Given the description of an element on the screen output the (x, y) to click on. 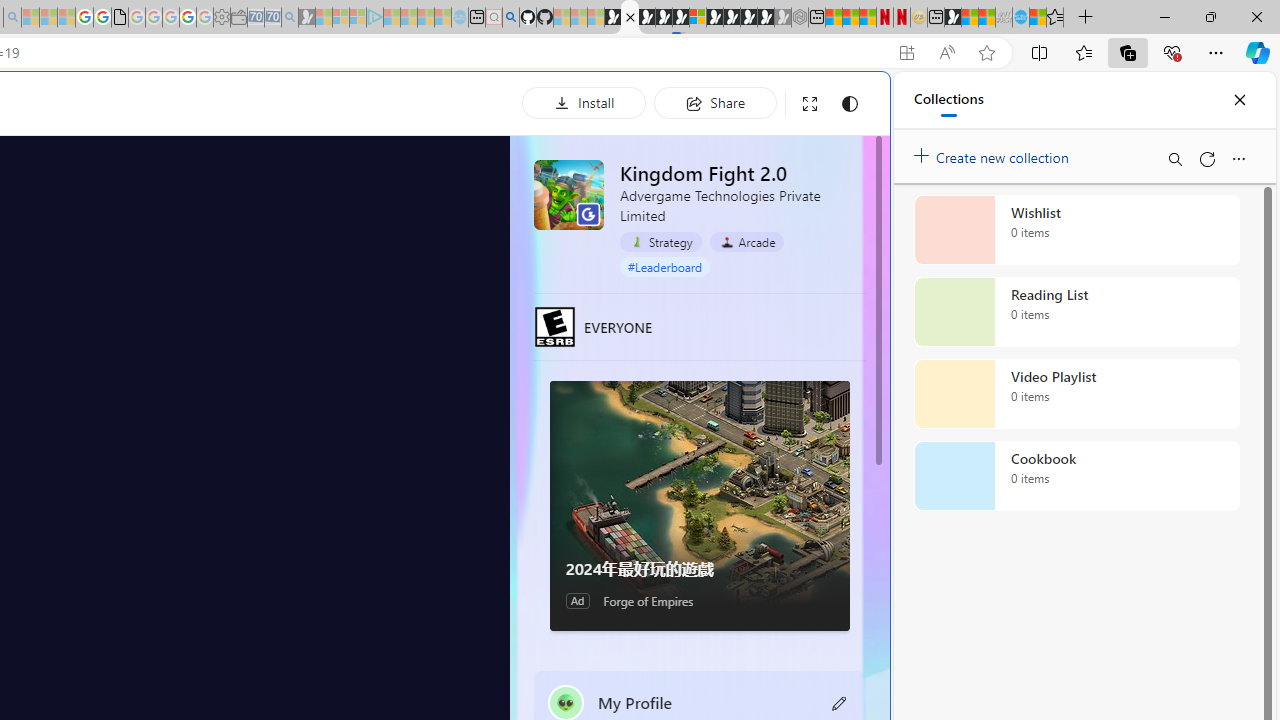
Play Cave FRVR in your browser | Games from Microsoft Start (663, 17)
Strategy (660, 241)
Settings - Sleeping (221, 17)
Share (715, 102)
Close split screen (844, 102)
